Given the description of an element on the screen output the (x, y) to click on. 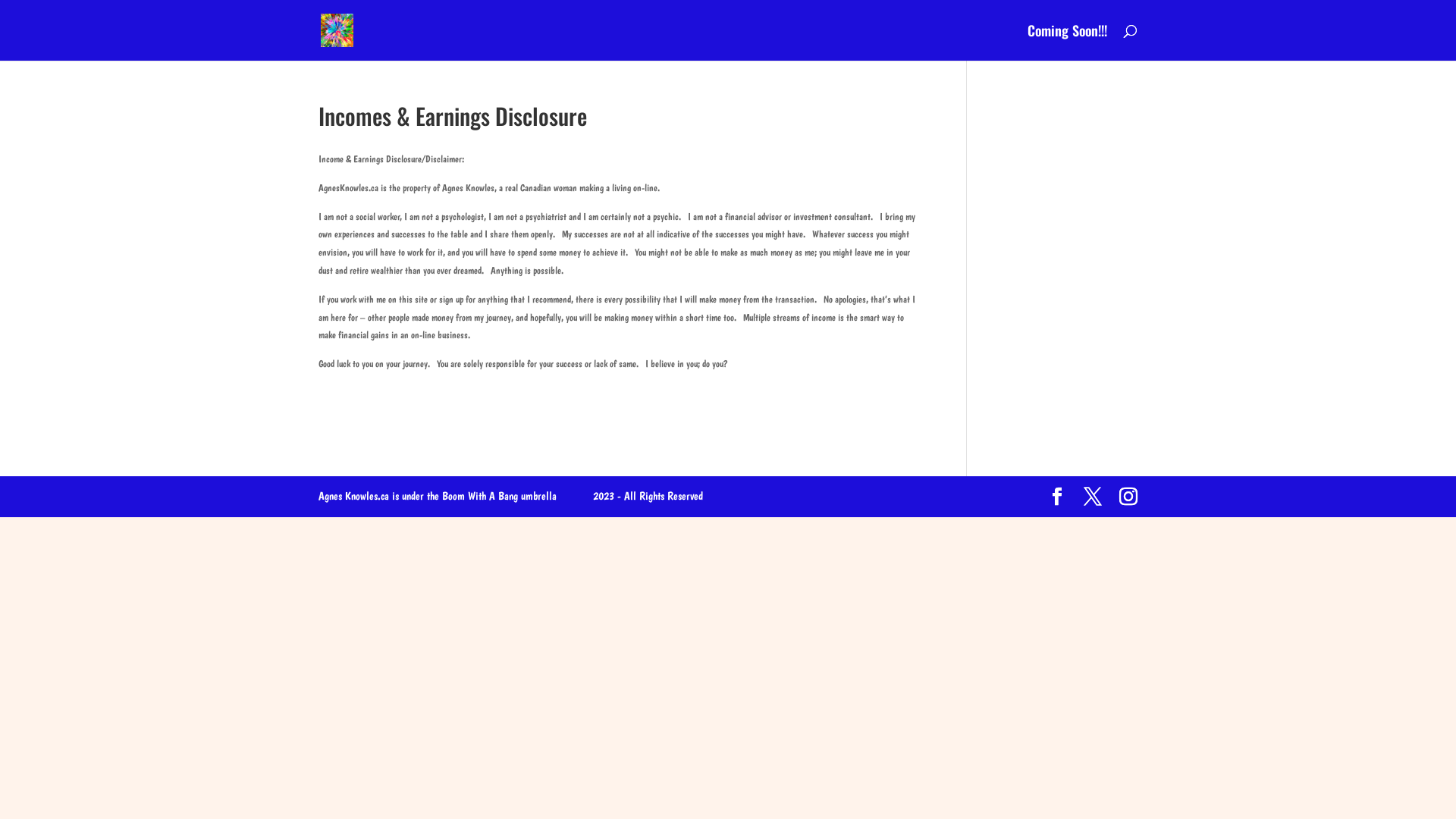
Coming Soon!!! Element type: text (1067, 42)
